Given the description of an element on the screen output the (x, y) to click on. 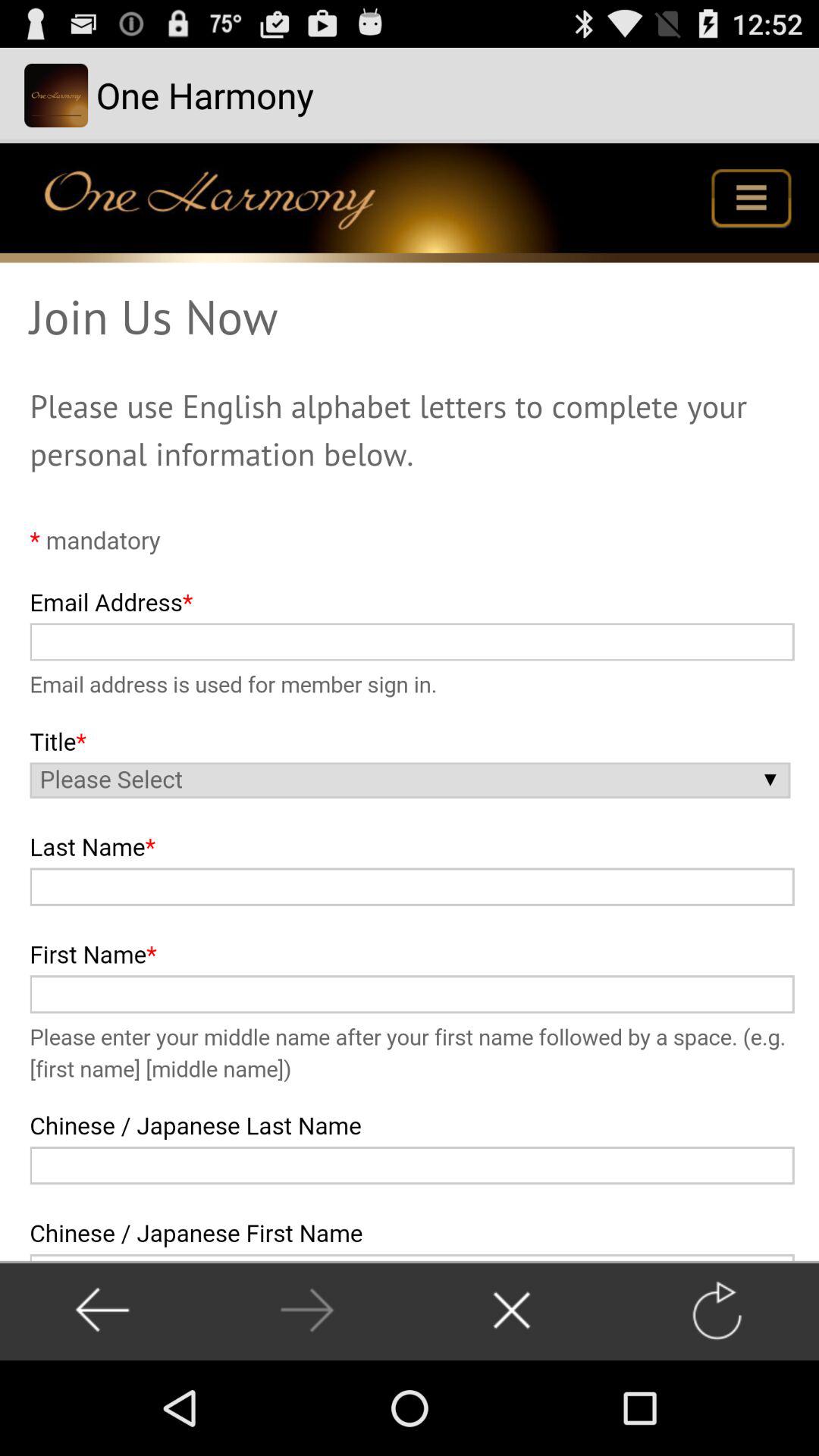
refresh page (716, 1310)
